Given the description of an element on the screen output the (x, y) to click on. 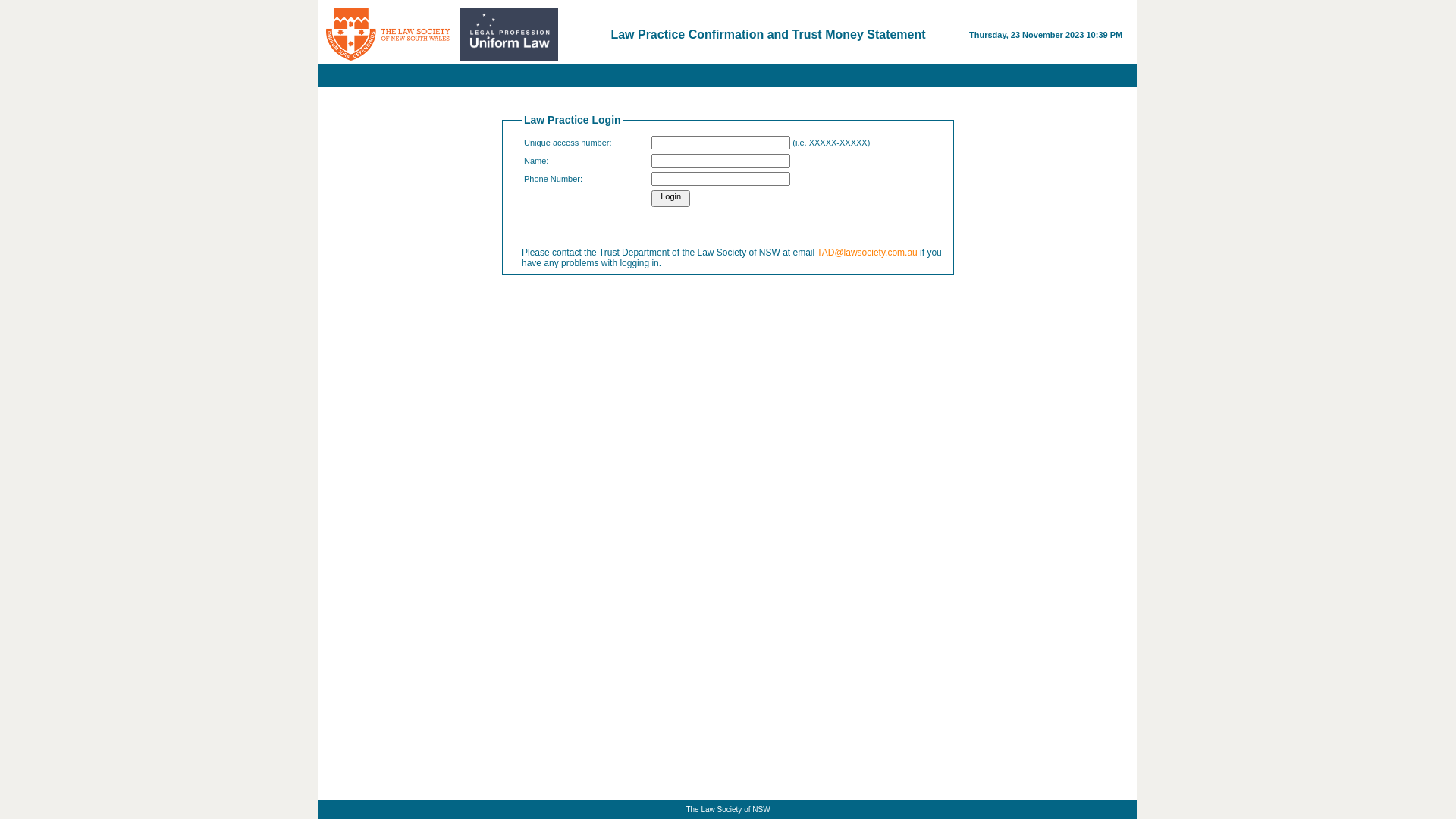
Login Element type: text (670, 198)
TAD@lawsociety.com.au Element type: text (866, 252)
